Given the description of an element on the screen output the (x, y) to click on. 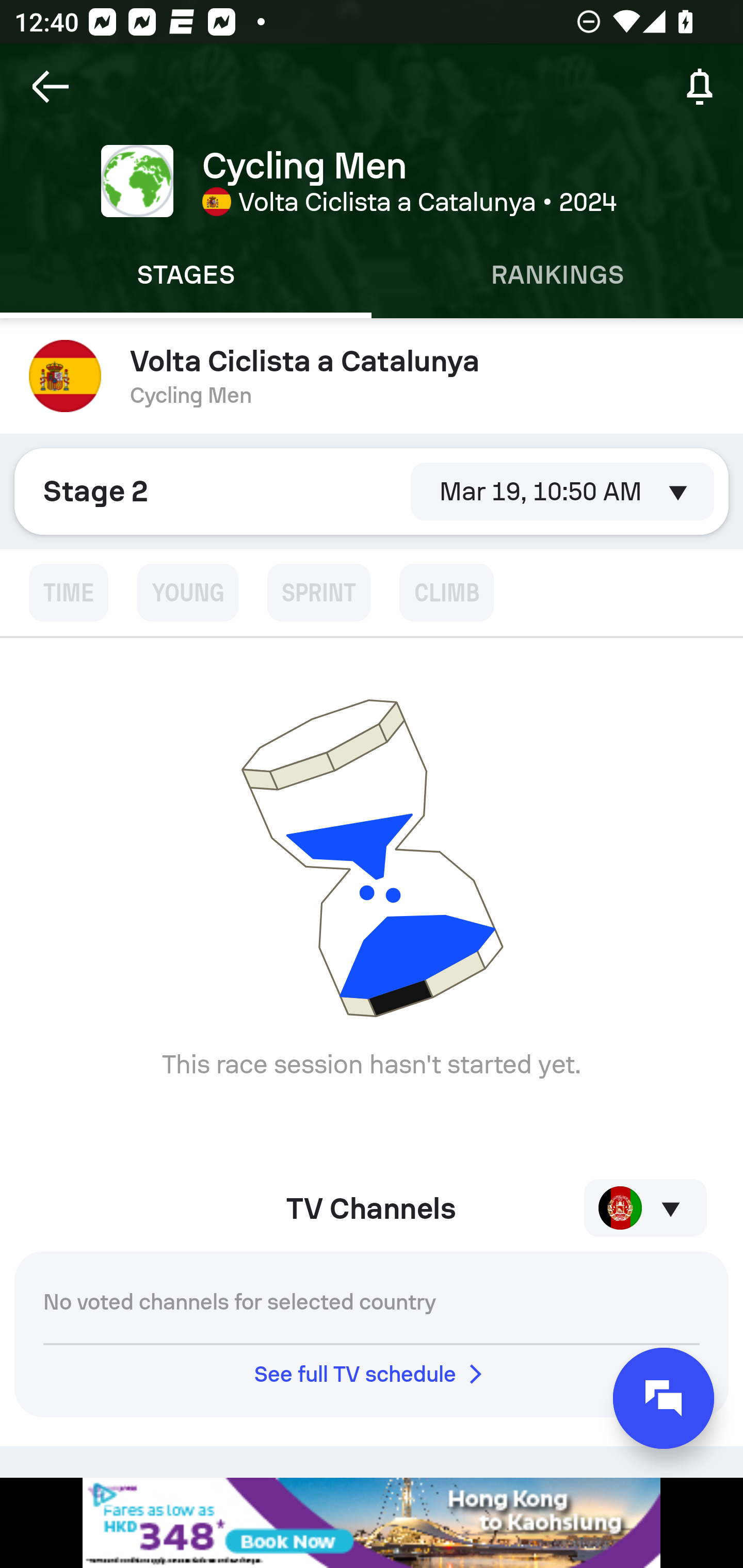
Navigate up (50, 86)
Rankings RANKINGS (557, 275)
Stage 2 Mar 19, 10:50 AM (371, 491)
Mar 19, 10:50 AM (562, 491)
See full TV schedule (371, 1374)
CHAT (663, 1398)
ijqm75ea_320x50 (371, 1522)
